Given the description of an element on the screen output the (x, y) to click on. 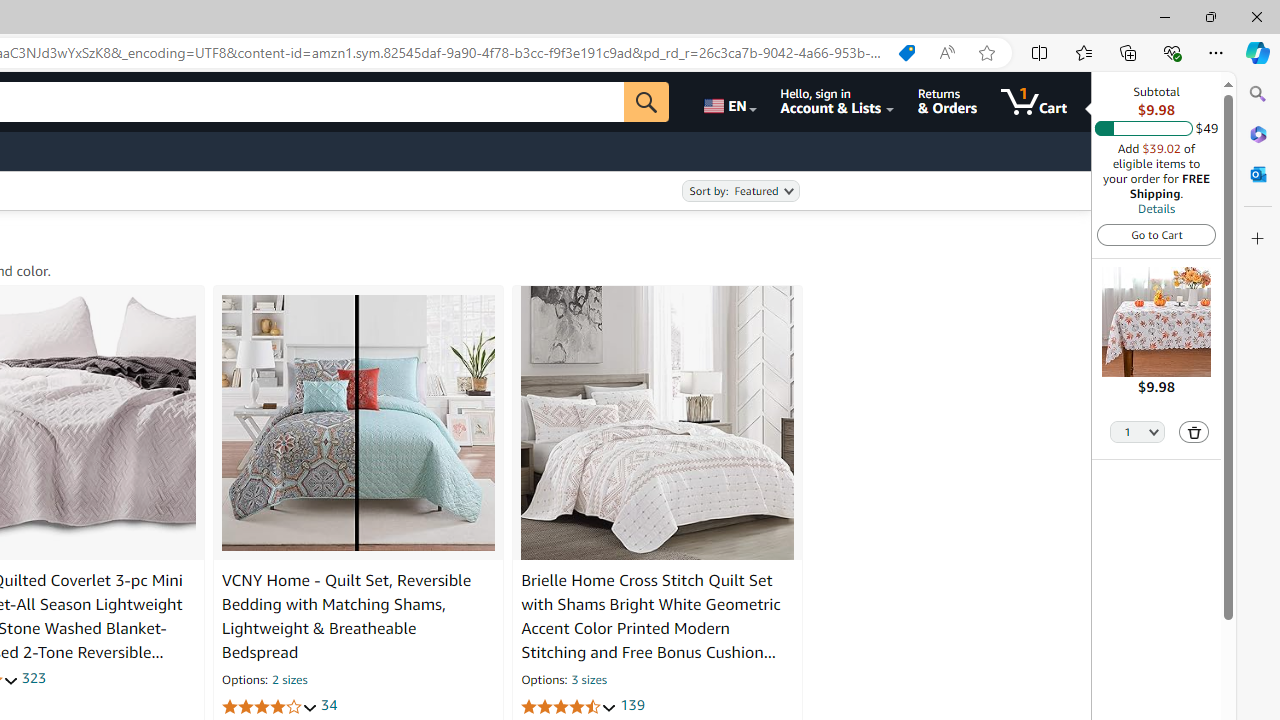
4.5 out of 5 stars (569, 706)
Quantity Selector (1137, 430)
Hello, sign in Account & Lists (836, 101)
1 item in cart (1034, 101)
Go to Cart (1156, 234)
Details (1156, 208)
323 (33, 678)
